Given the description of an element on the screen output the (x, y) to click on. 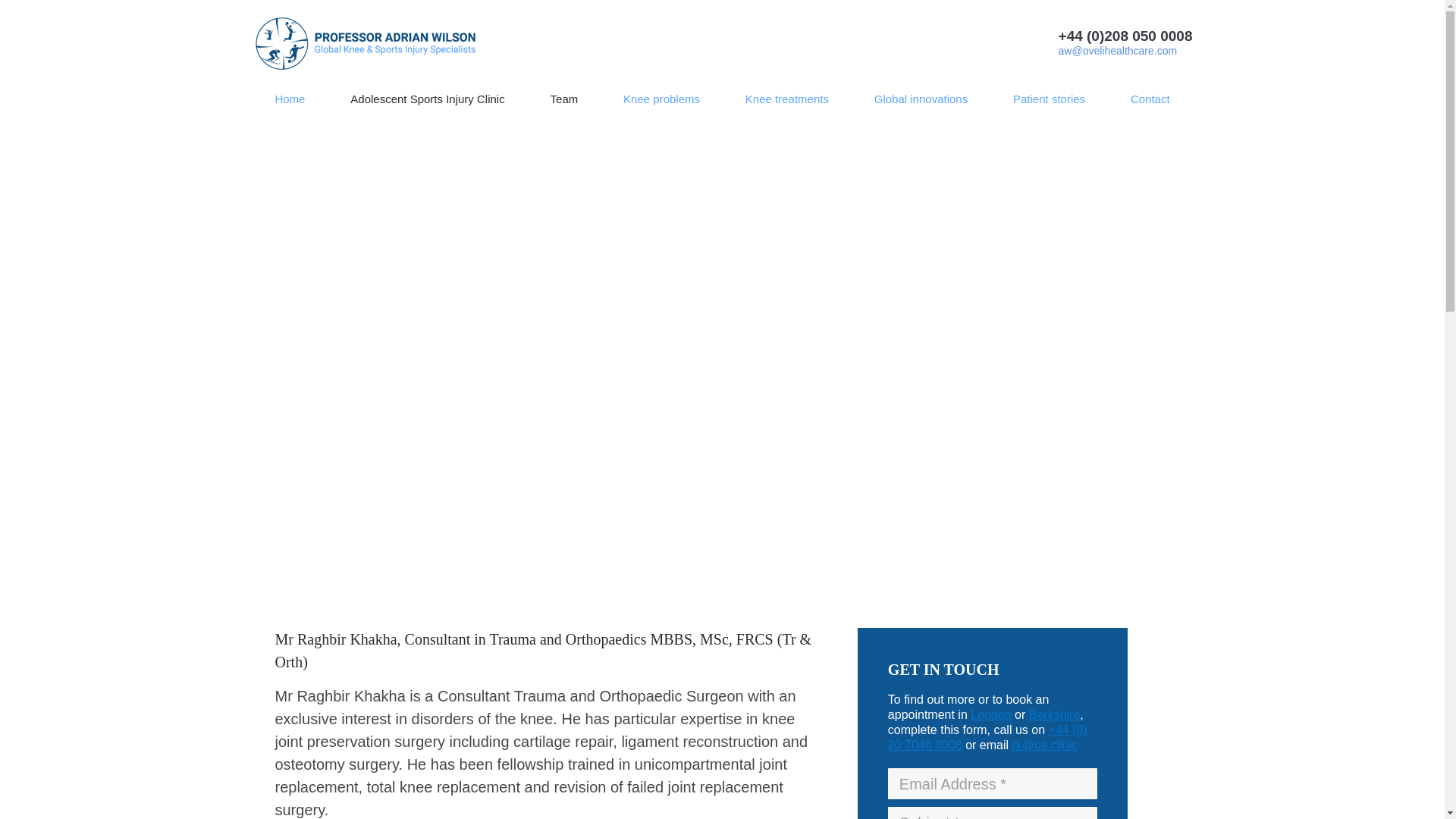
Team (564, 98)
Knee problems (660, 98)
Adolescent Sports Injury Clinic (427, 98)
Knee treatments (786, 98)
Home (289, 98)
